Given the description of an element on the screen output the (x, y) to click on. 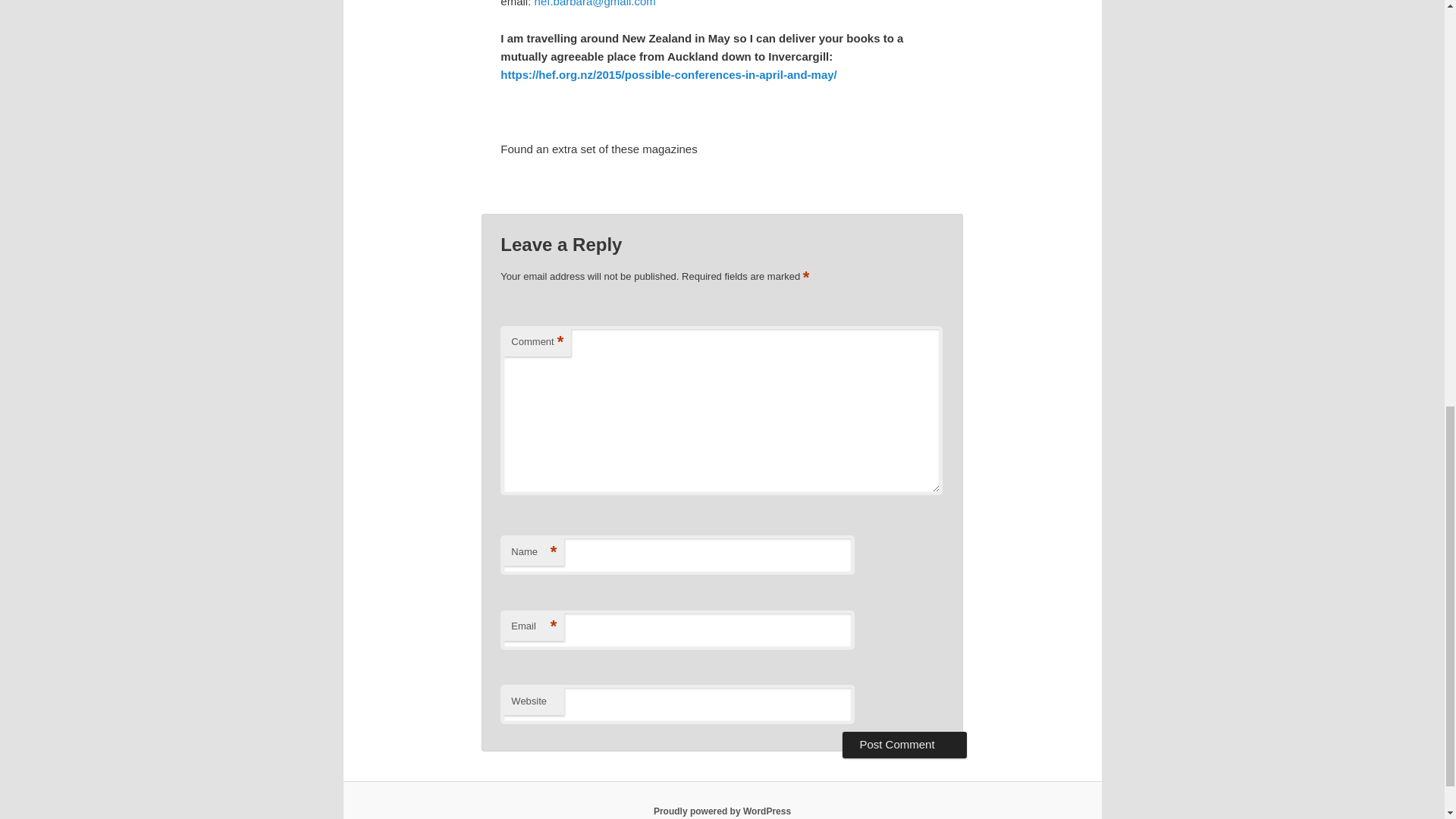
Semantic Personal Publishing Platform (721, 810)
Post Comment (904, 744)
